Given the description of an element on the screen output the (x, y) to click on. 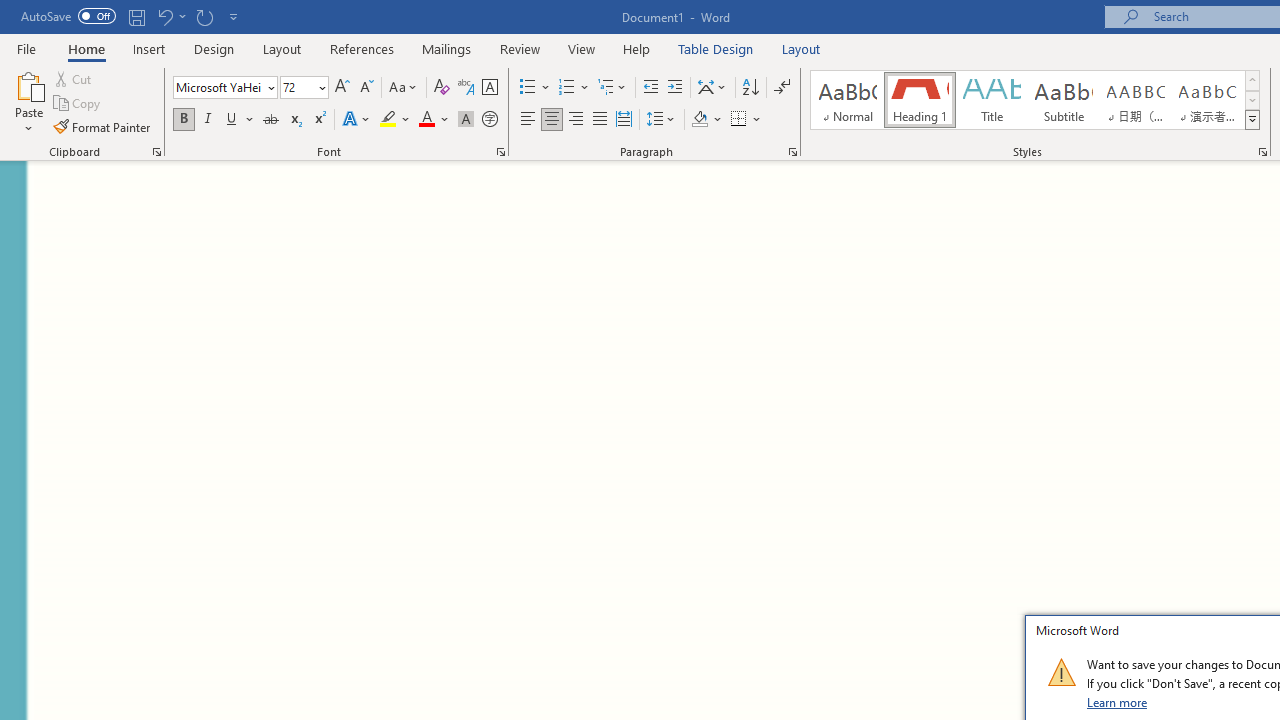
Text Highlight Color (395, 119)
Font Color (434, 119)
Learn more (1118, 702)
Superscript (319, 119)
Line and Paragraph Spacing (661, 119)
Strikethrough (270, 119)
Sort... (750, 87)
Bold (183, 119)
